Given the description of an element on the screen output the (x, y) to click on. 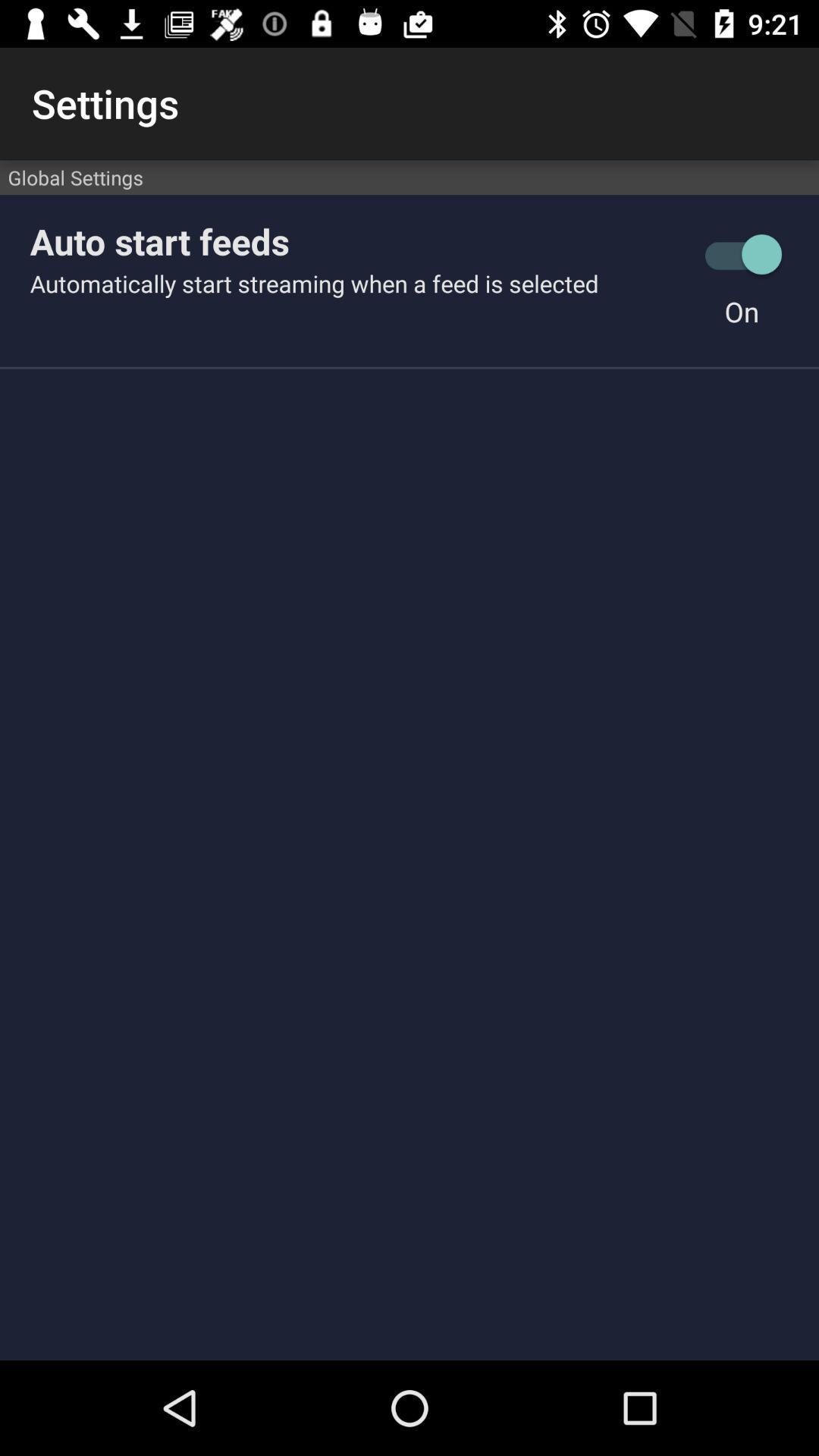
tap automatically start streaming item (357, 283)
